Given the description of an element on the screen output the (x, y) to click on. 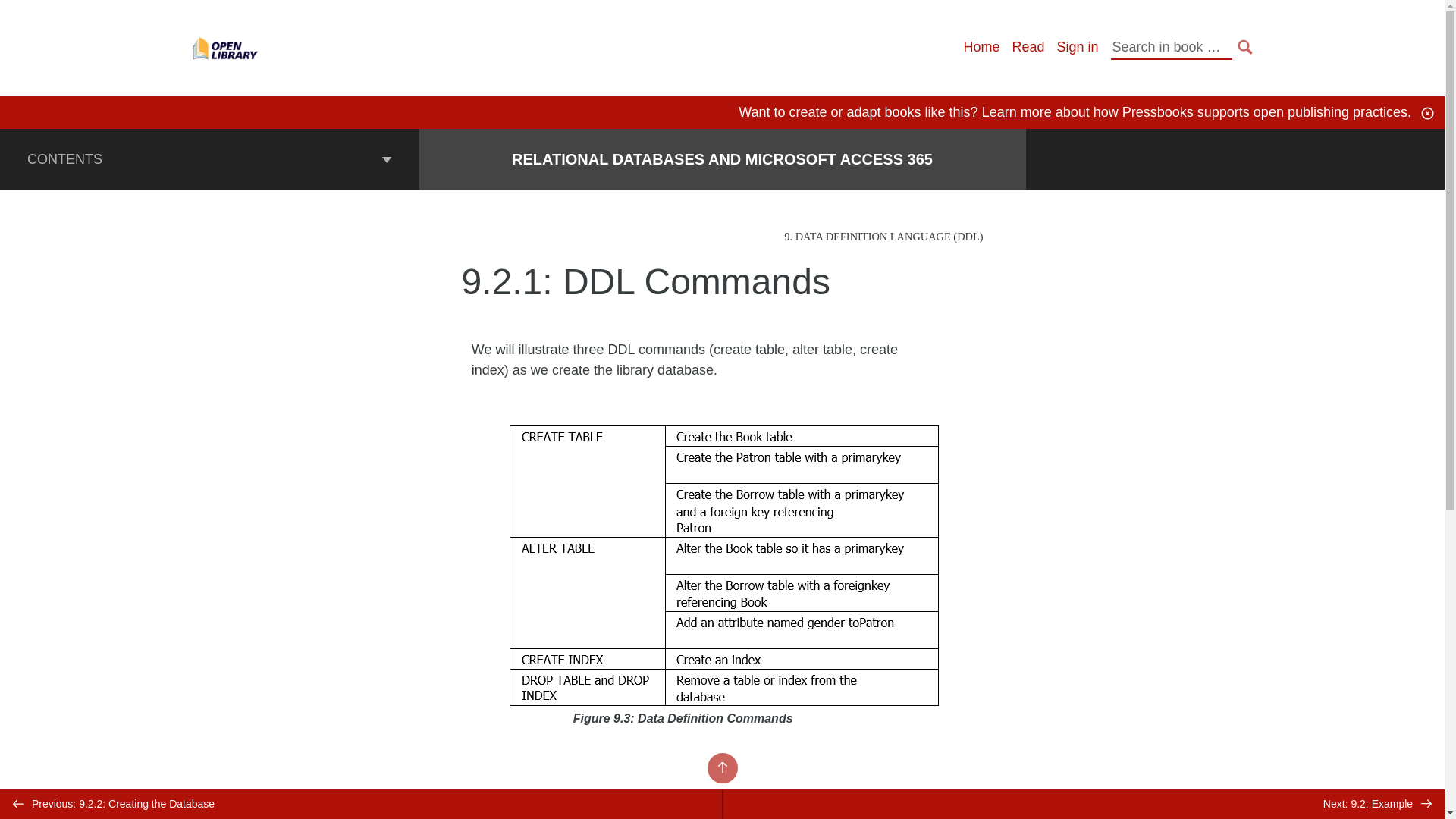
BACK TO TOP (721, 767)
Previous: 9.2.2: Creating the Database (361, 804)
Previous: 9.2.2: Creating the Database (361, 804)
Home (980, 46)
Learn more (1016, 111)
RELATIONAL DATABASES AND MICROSOFT ACCESS 365 (722, 159)
Sign in (1077, 46)
CONTENTS (209, 158)
Read (1027, 46)
